Given the description of an element on the screen output the (x, y) to click on. 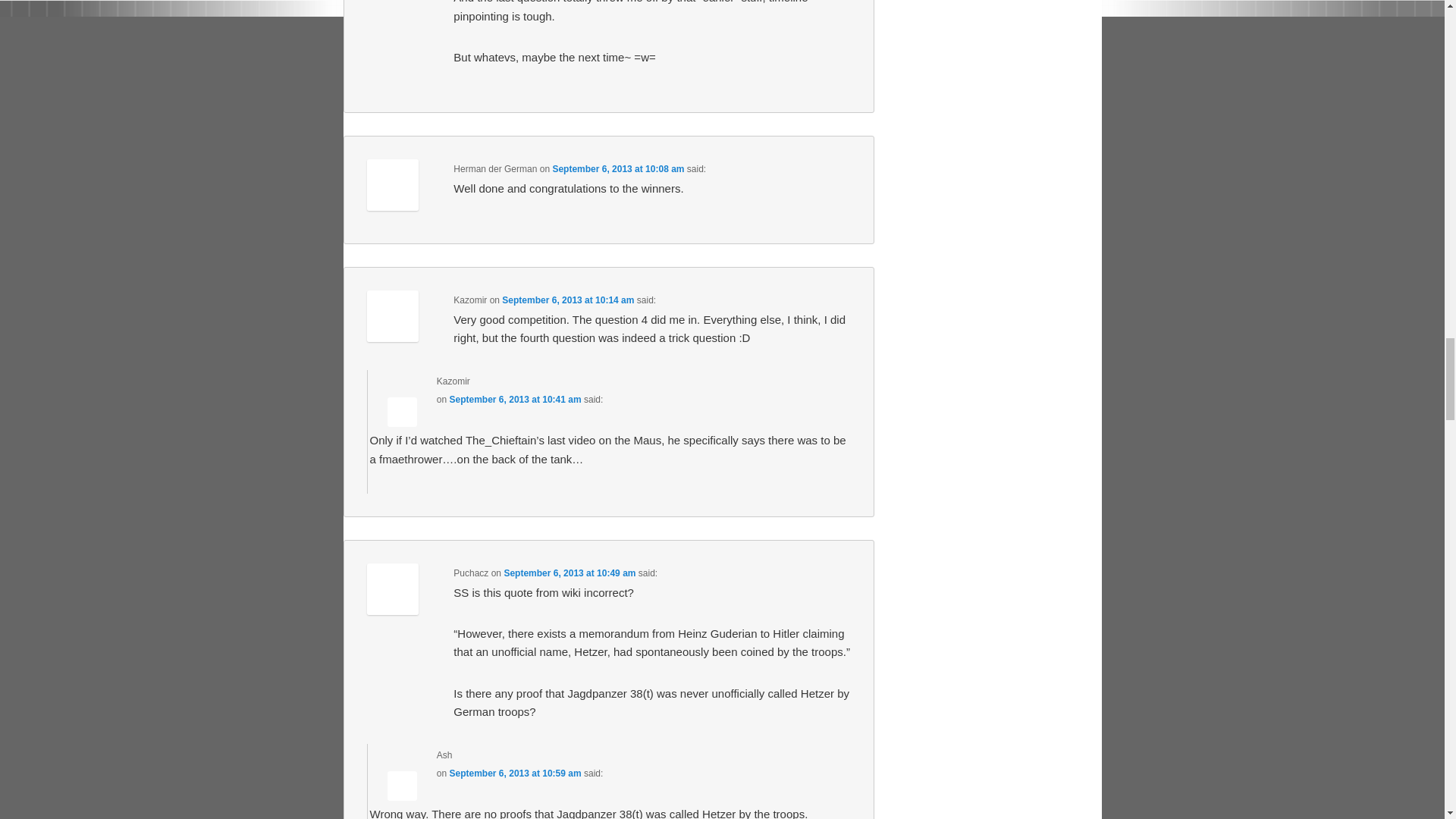
September 6, 2013 at 10:14 am (567, 299)
September 6, 2013 at 10:49 am (568, 573)
September 6, 2013 at 10:08 am (617, 168)
September 6, 2013 at 10:59 am (514, 773)
September 6, 2013 at 10:41 am (514, 398)
